Given the description of an element on the screen output the (x, y) to click on. 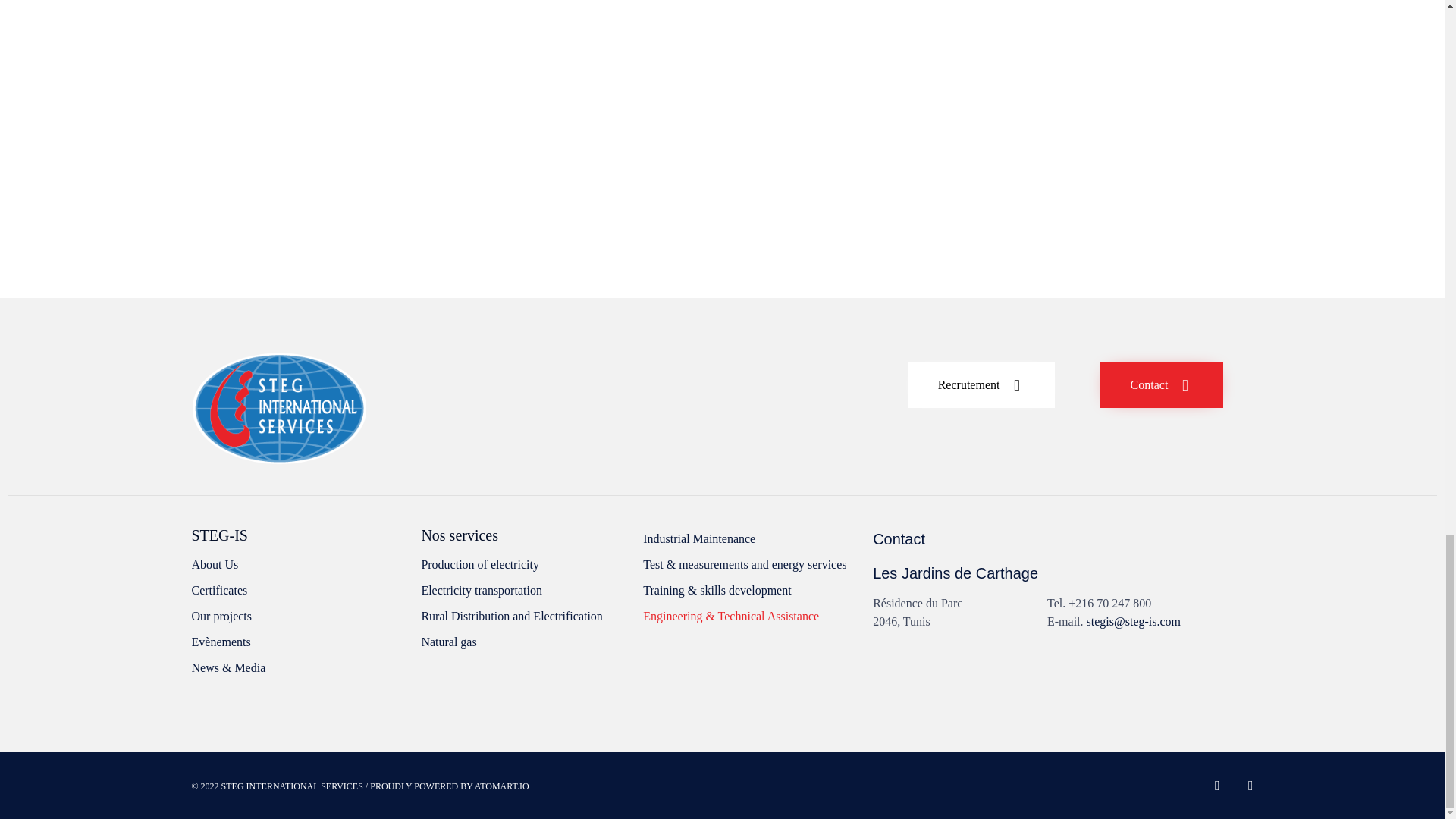
Untitled-3 (1080, 106)
cropped-siss2.png (277, 408)
Our projects (298, 616)
About Us (298, 565)
Recrutement (981, 385)
HSE (994, 682)
Untitled-1 (362, 106)
Certificates (298, 590)
Untitled-2 (721, 106)
Contact (1162, 385)
